Given the description of an element on the screen output the (x, y) to click on. 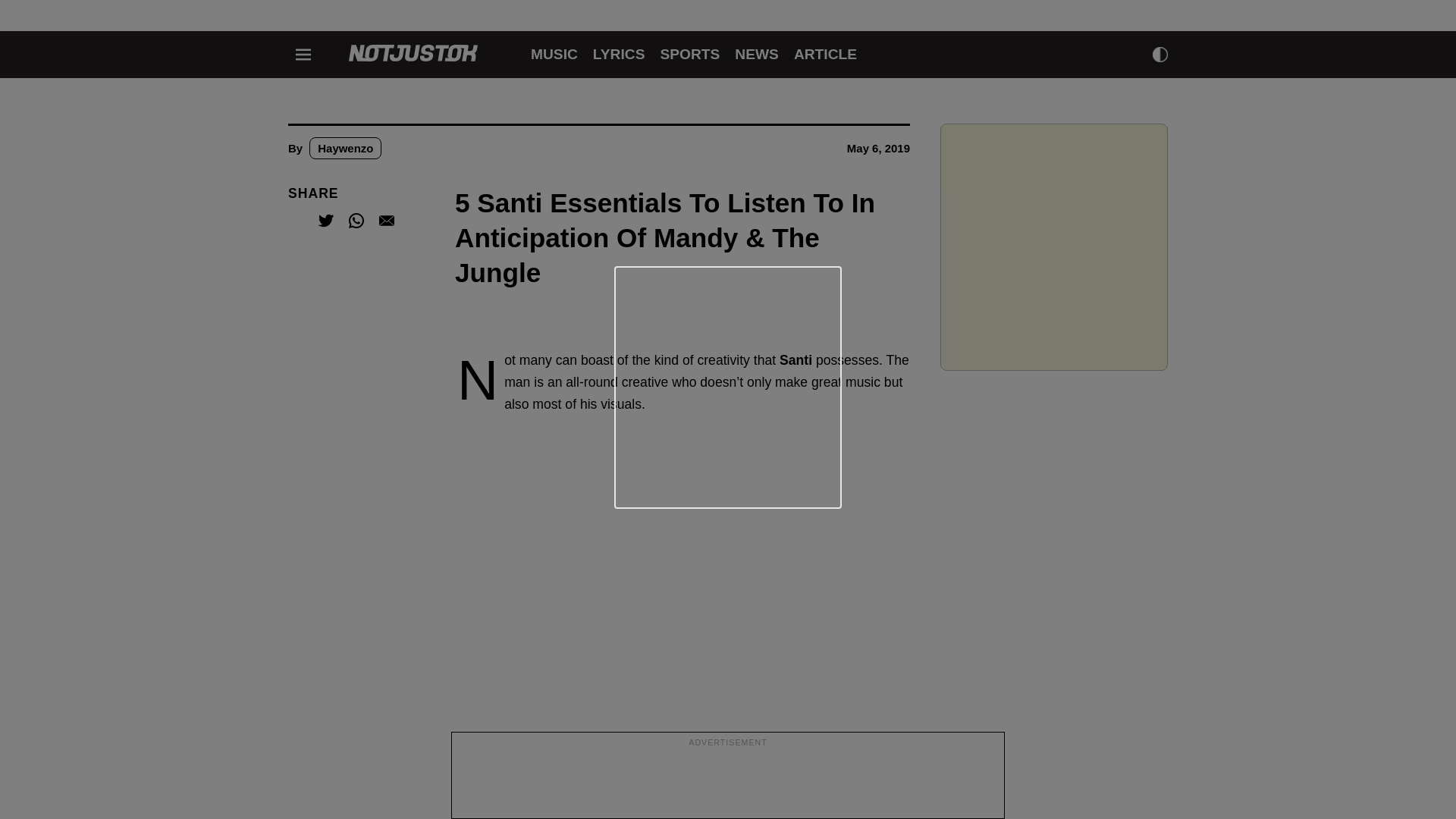
MUSIC (554, 53)
Haywenzo (344, 147)
NEWS (756, 53)
ARTICLE (825, 53)
SPORTS (689, 53)
Posts by Haywenzo (344, 147)
LYRICS (618, 53)
